Given the description of an element on the screen output the (x, y) to click on. 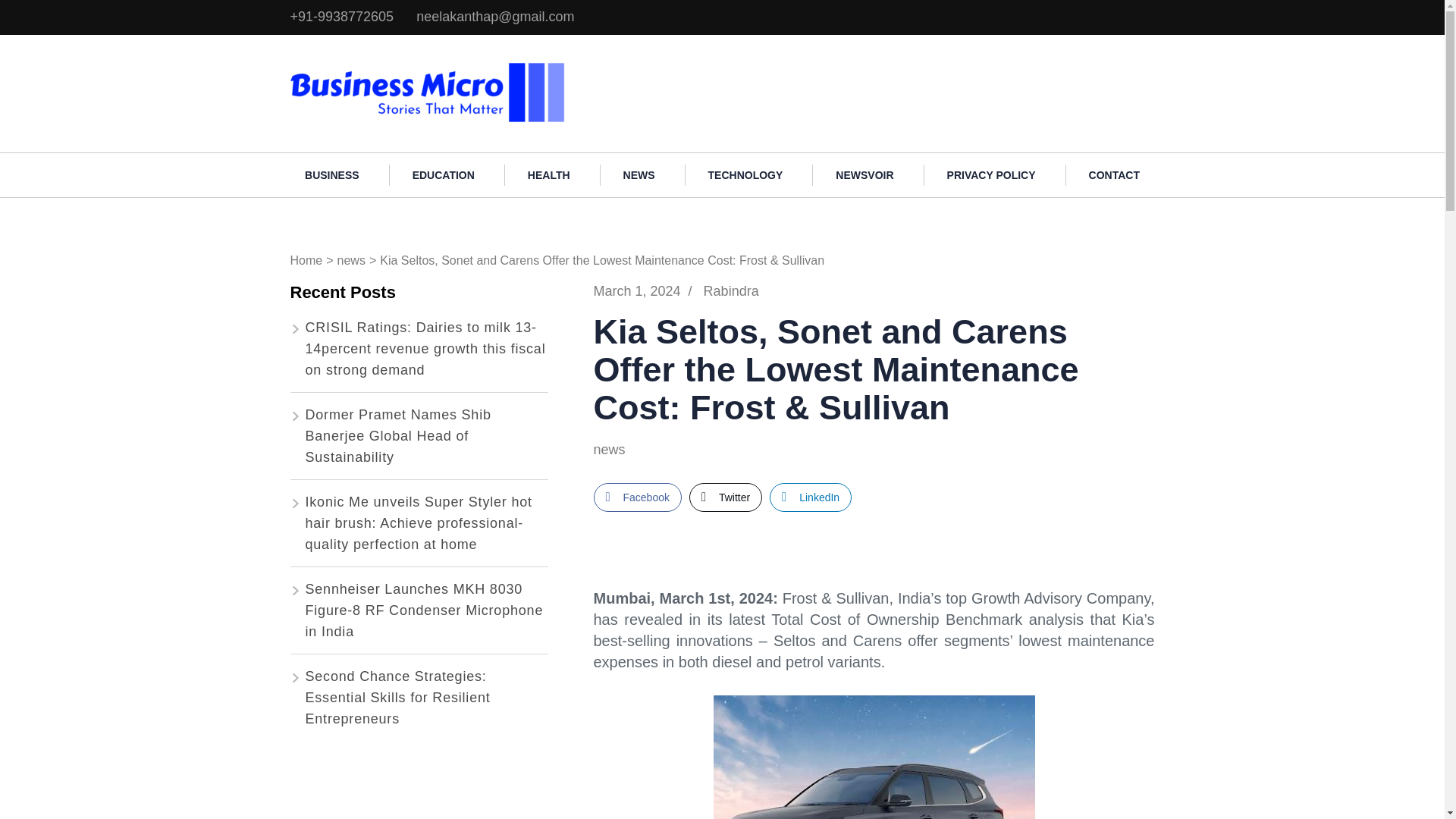
HEALTH (548, 174)
LinkedIn (810, 497)
March 1, 2024 (635, 290)
news (351, 259)
Home (305, 259)
EDUCATION (444, 174)
PRIVACY POLICY (991, 174)
TECHNOLOGY (745, 174)
Rabindra (730, 290)
NEWSVOIR (863, 174)
Facebook (636, 497)
news (619, 450)
Business Micro (628, 68)
BUSINESS (331, 174)
Twitter (724, 497)
